Given the description of an element on the screen output the (x, y) to click on. 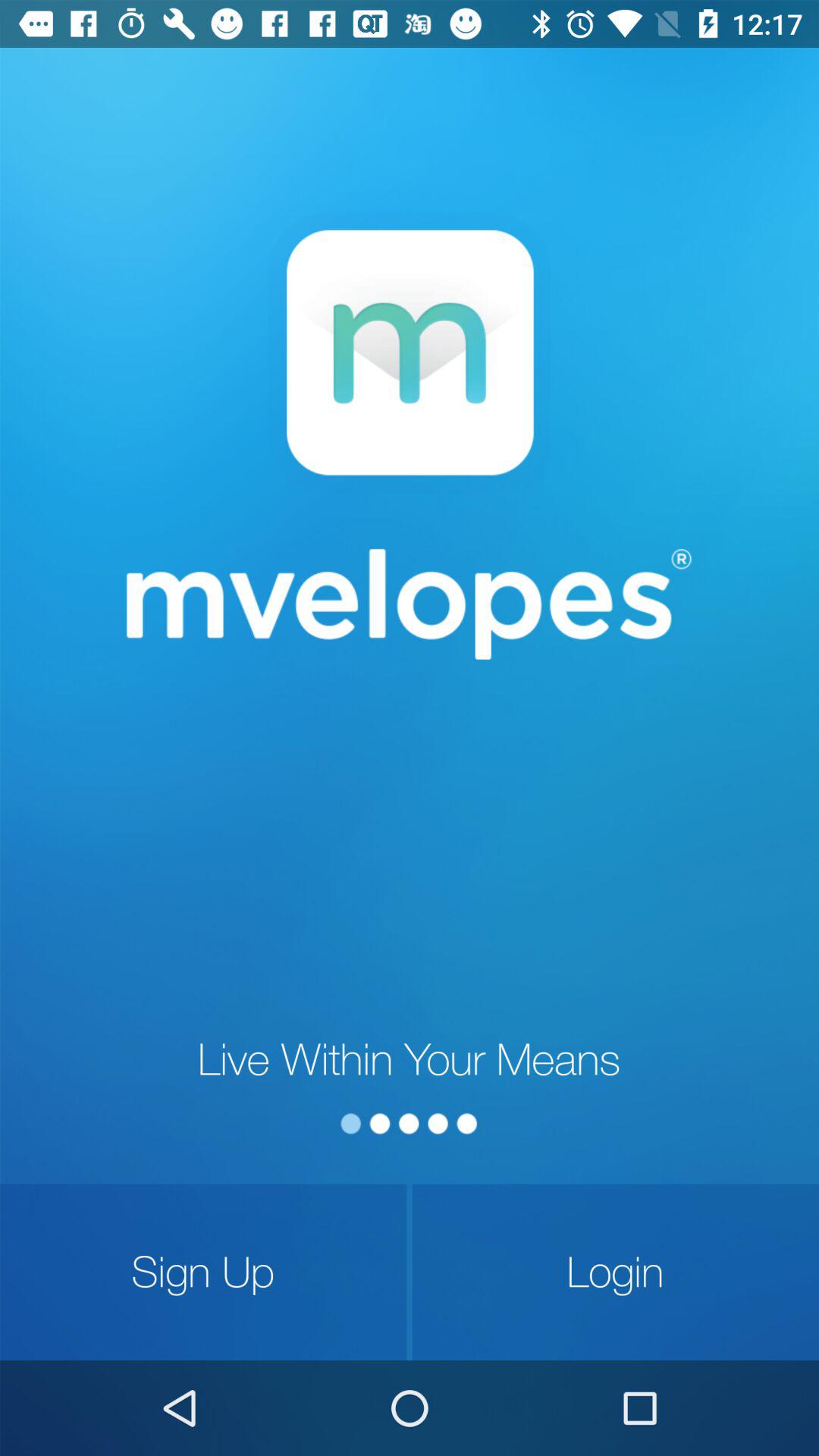
turn on the item at the bottom left corner (203, 1272)
